Given the description of an element on the screen output the (x, y) to click on. 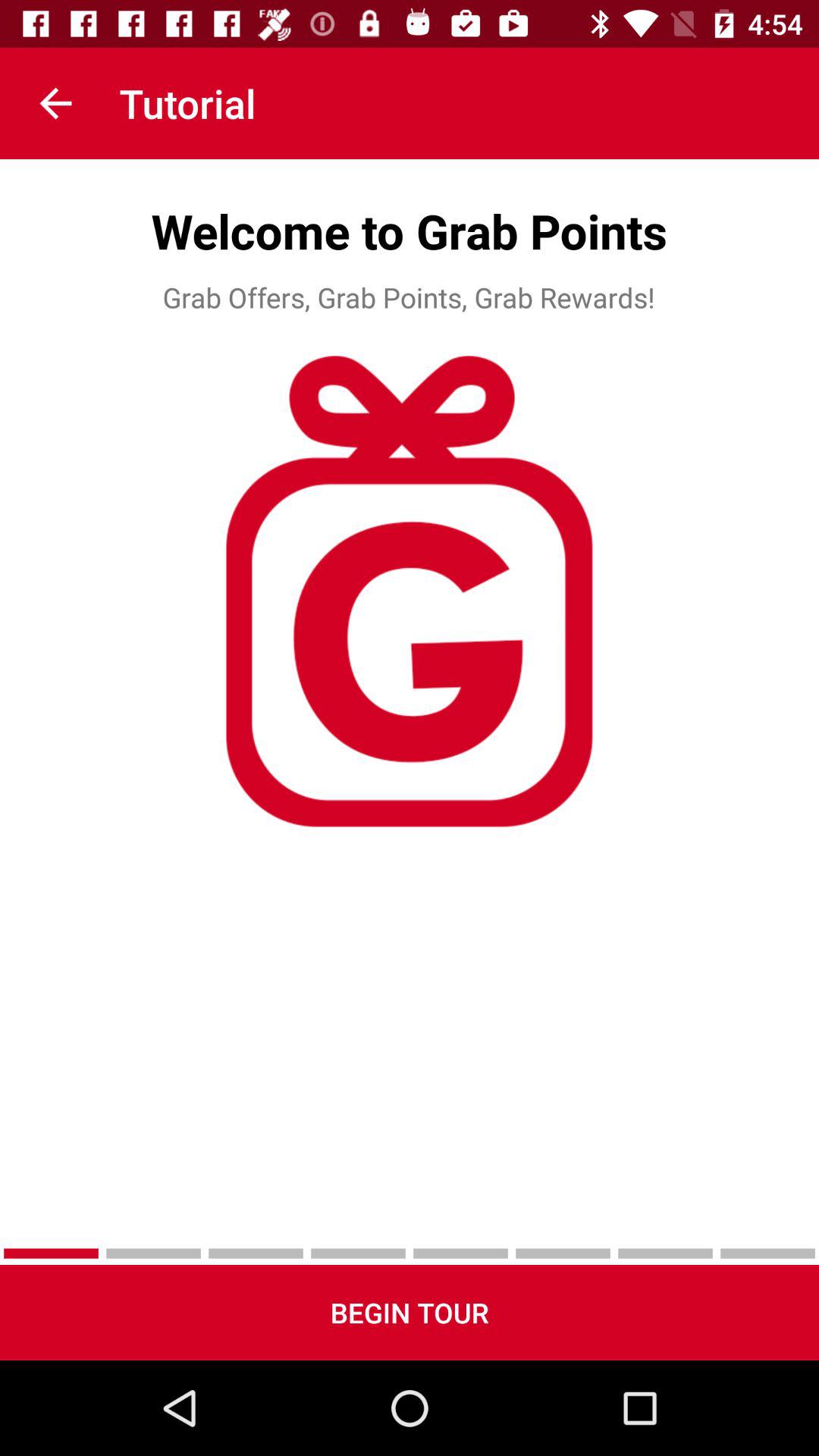
launch item next to the tutorial (55, 103)
